Given the description of an element on the screen output the (x, y) to click on. 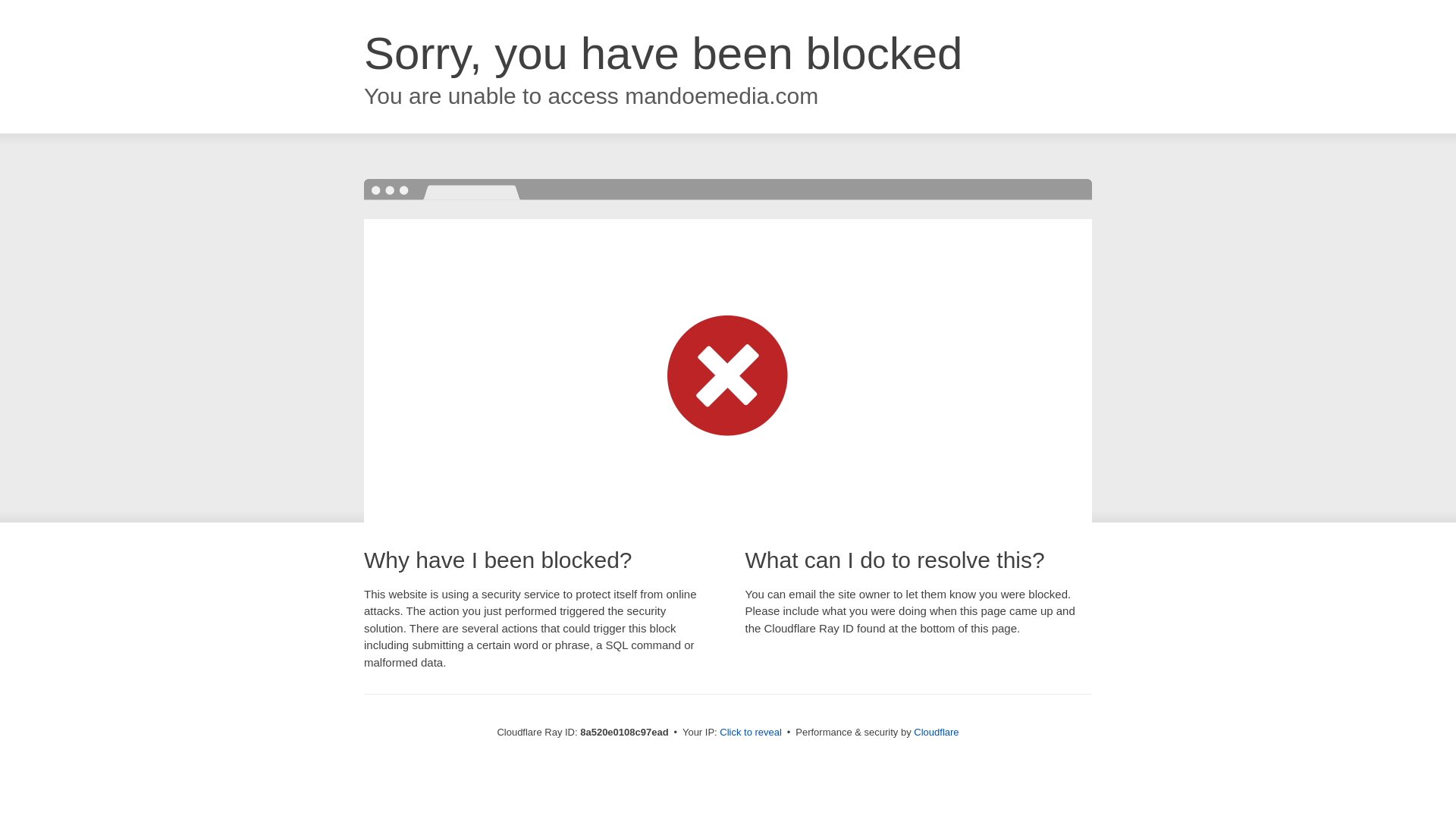
Click to reveal (750, 732)
Cloudflare (936, 731)
